Given the description of an element on the screen output the (x, y) to click on. 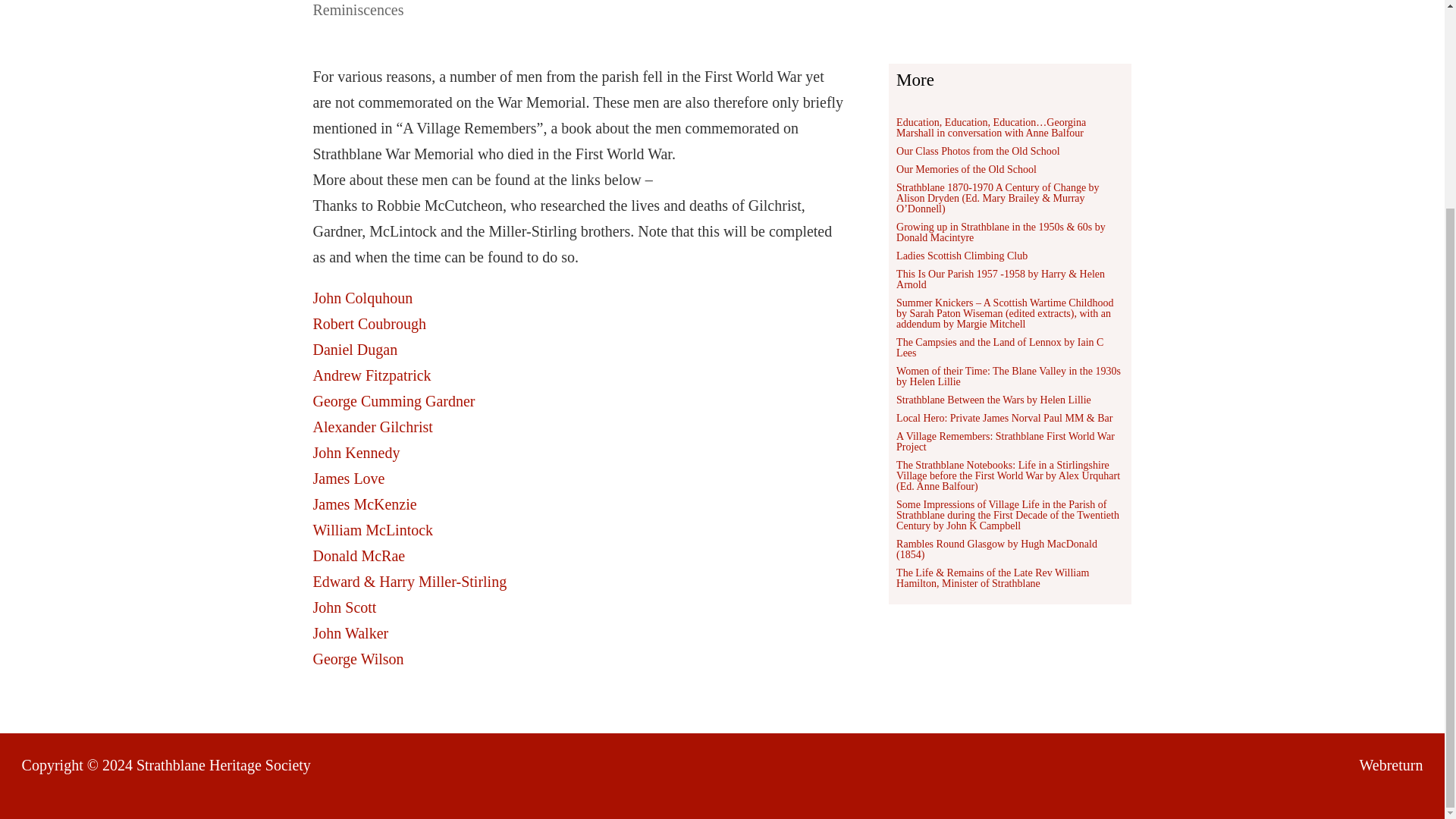
Daniel Dugan (355, 349)
Robert Coubrough (369, 323)
Reminiscences (358, 9)
John Colquhoun (362, 297)
